Given the description of an element on the screen output the (x, y) to click on. 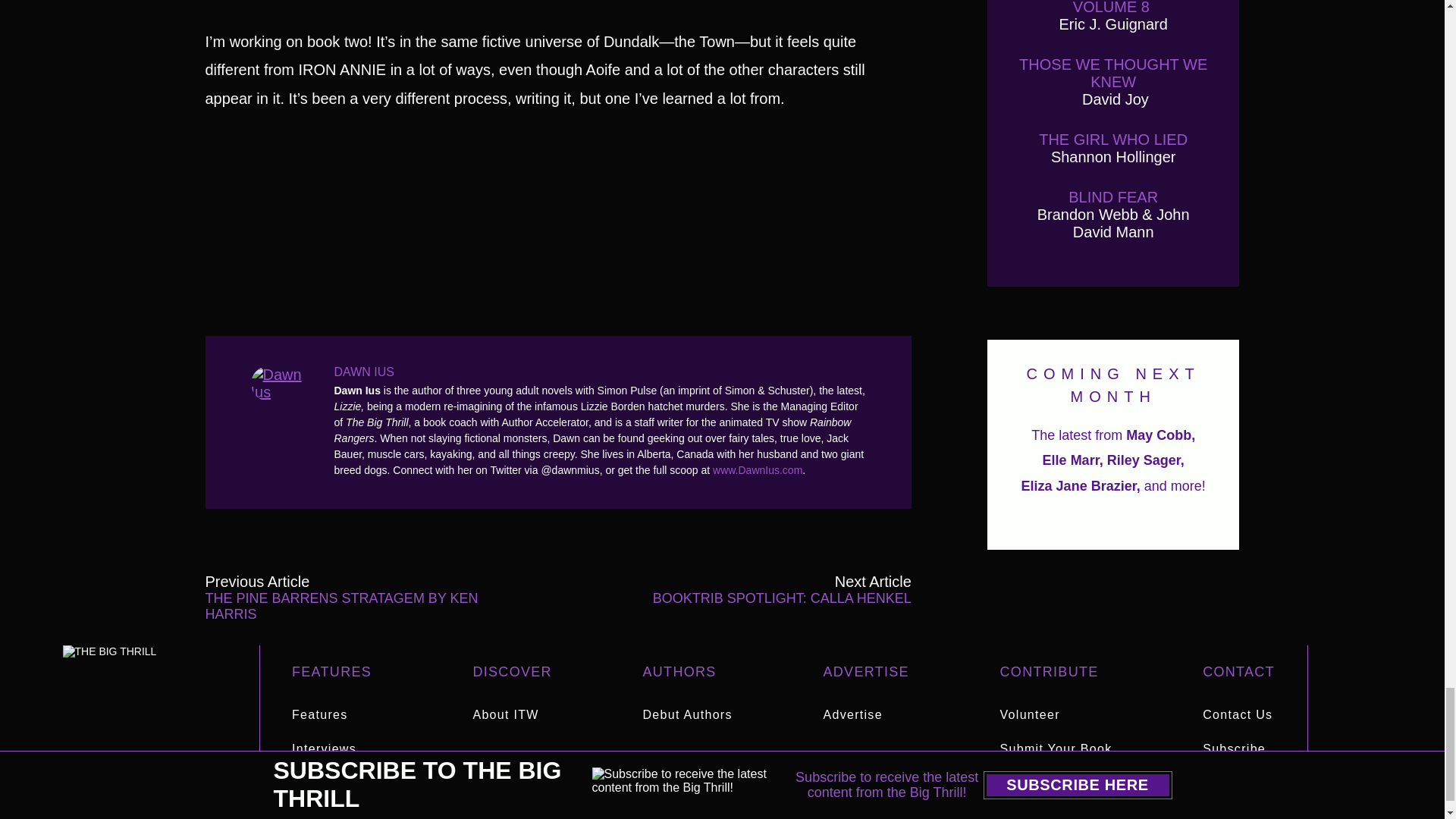
The Pine Barrens Stratagem by Ken Harris (346, 597)
BookTrib Spotlight: Calla Henkel (769, 597)
Dawn Ius (284, 382)
